Given the description of an element on the screen output the (x, y) to click on. 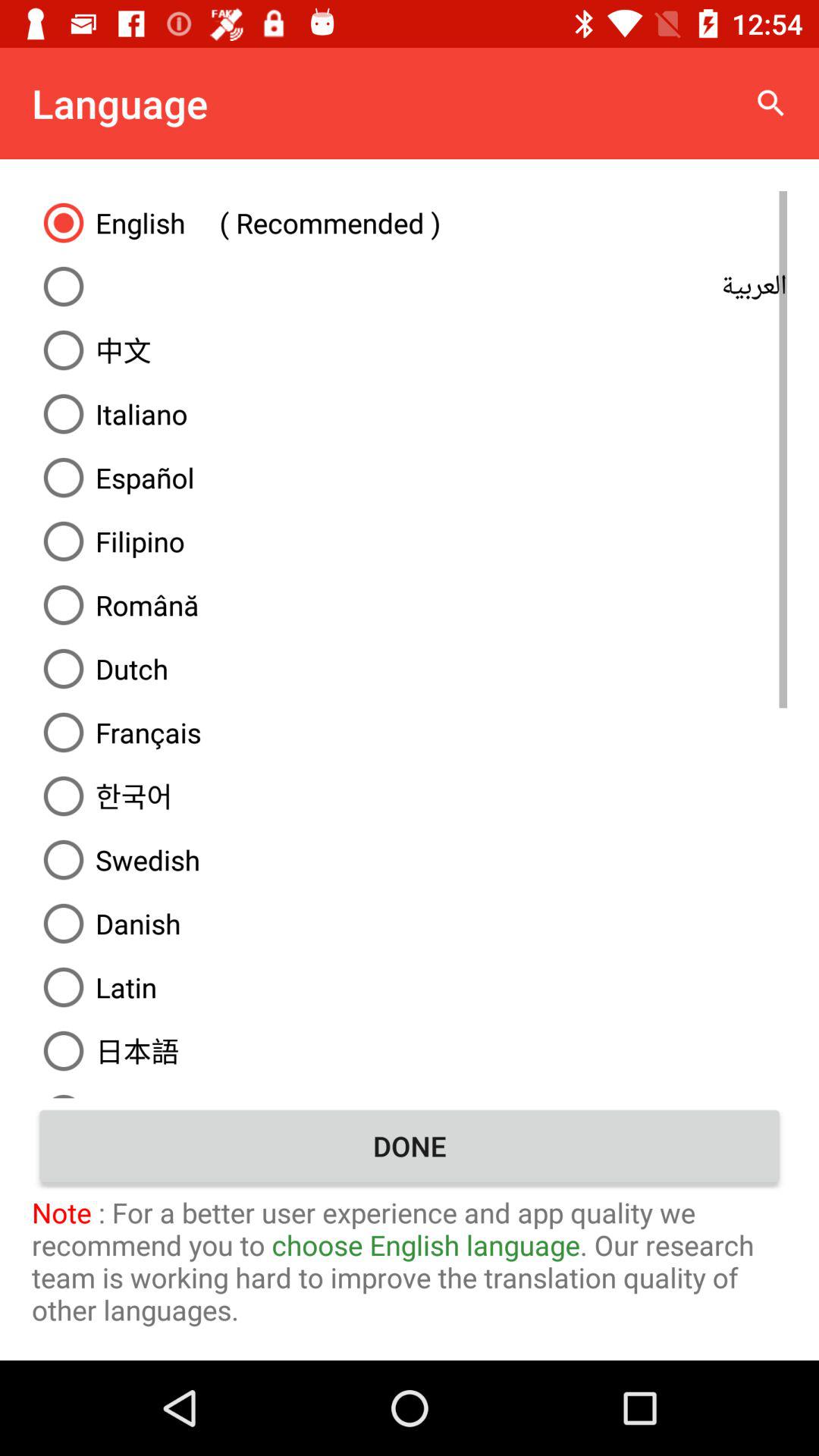
launch filipino (409, 541)
